Given the description of an element on the screen output the (x, y) to click on. 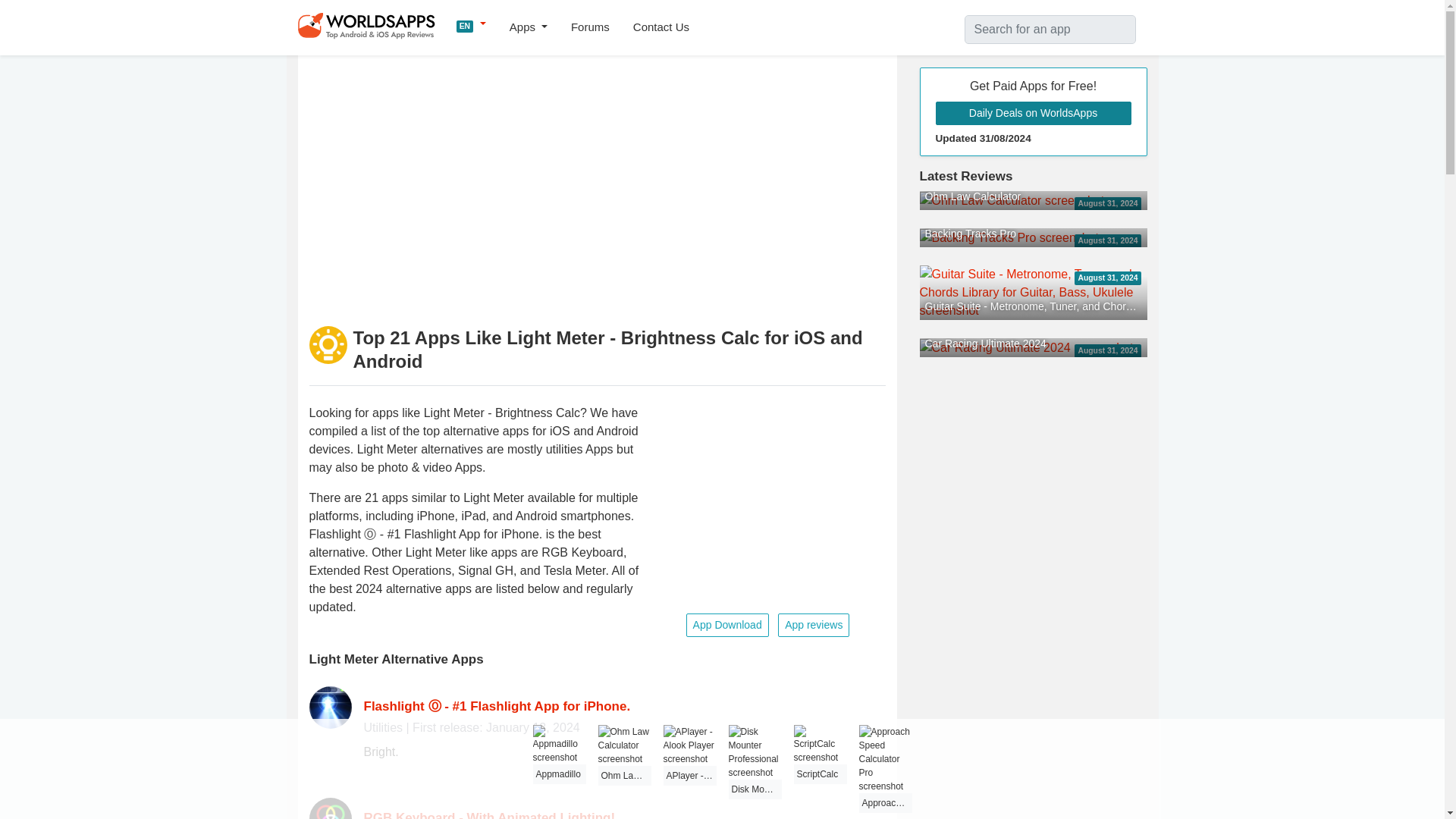
Download Backing Tracks Pro App (1008, 236)
Download Car Racing Ultimate 2024 App (1025, 346)
Contact Us (660, 27)
Daily Deals on WorldsApps (1033, 113)
App Download (726, 625)
Download Ohm Law Calculator App (1010, 199)
App reviews (812, 625)
EN (471, 24)
